Given the description of an element on the screen output the (x, y) to click on. 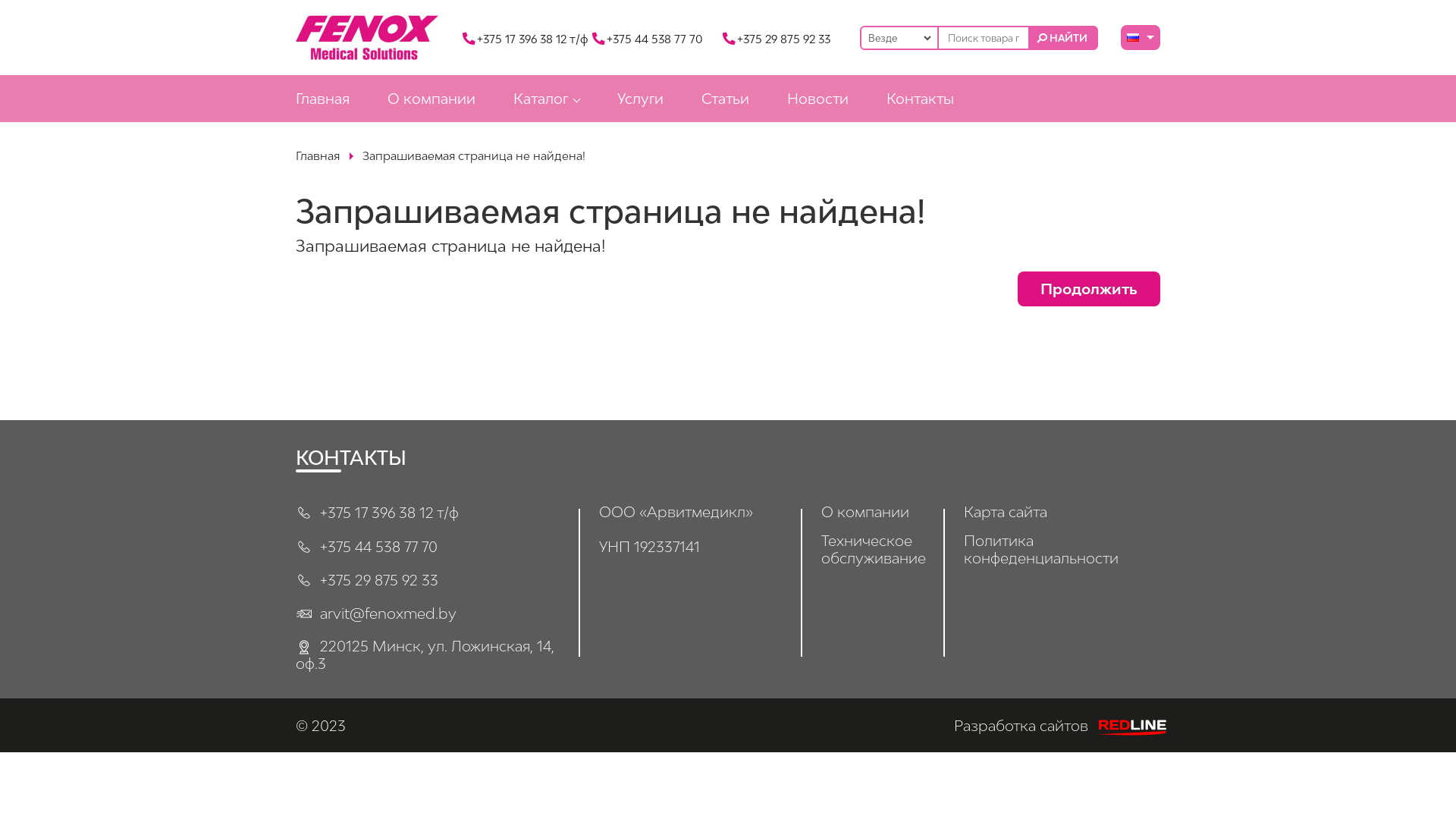
+375 44 538 77 70 Element type: text (366, 544)
+375 29 875 92 33 Element type: text (366, 577)
+375 44 538 77 70 Element type: text (647, 38)
Russian Element type: hover (1132, 37)
+375 29 875 92 33 Element type: text (776, 38)
Fenox Medical Solutions Element type: hover (367, 37)
arvit@fenoxmed.by Element type: text (375, 611)
